Given the description of an element on the screen output the (x, y) to click on. 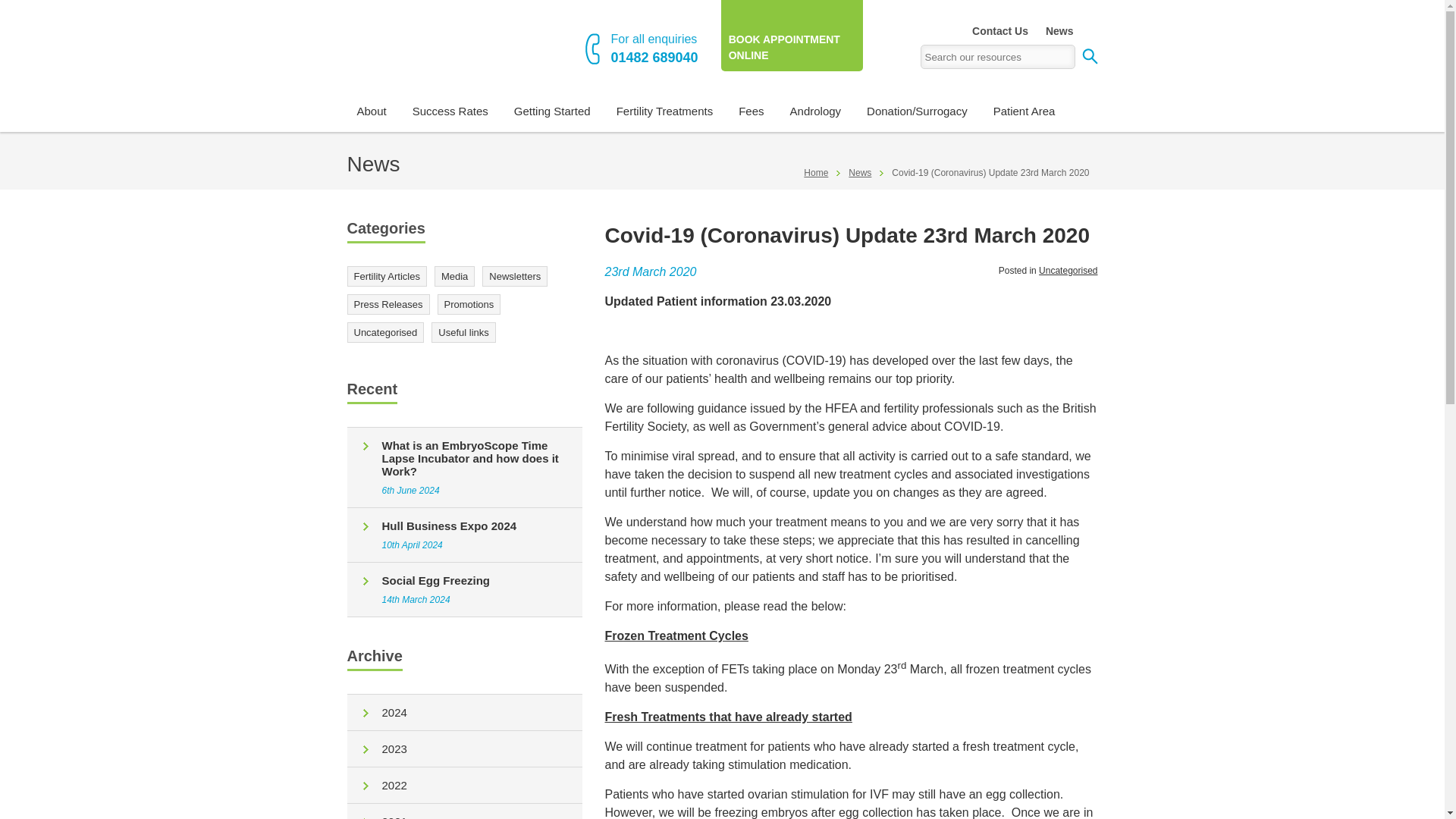
Contact Us (999, 30)
Patient Area (1024, 110)
Fees (751, 110)
Andrology (815, 110)
Success Rates (450, 110)
BOOK APPOINTMENT ONLINE (791, 35)
Fertility Treatments (665, 110)
About (371, 110)
News (1056, 30)
Search (1086, 56)
01482 689040 (654, 57)
Getting Started (551, 110)
Search (1086, 56)
